Given the description of an element on the screen output the (x, y) to click on. 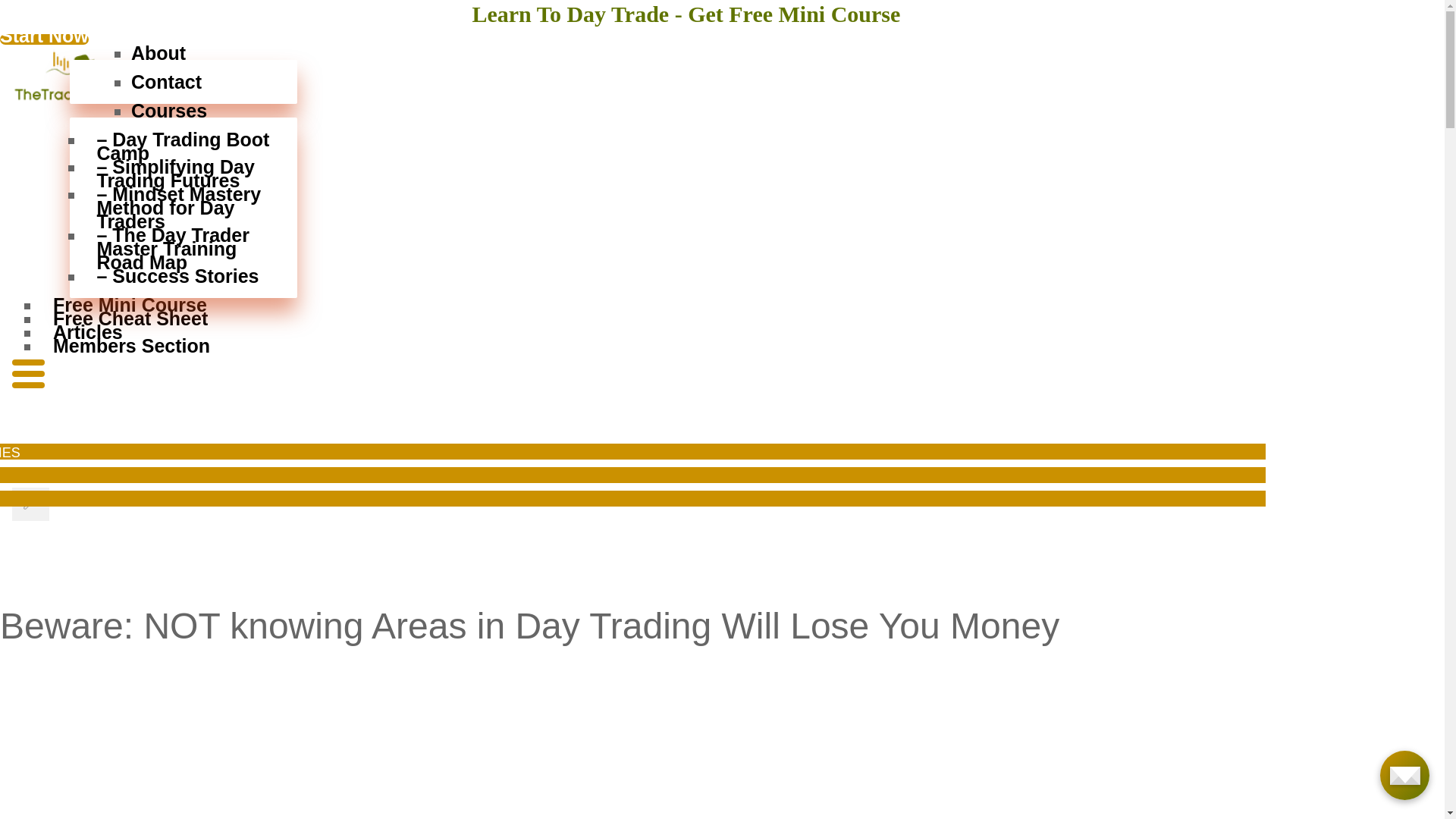
Start Now (44, 39)
Contact (190, 81)
